Given the description of an element on the screen output the (x, y) to click on. 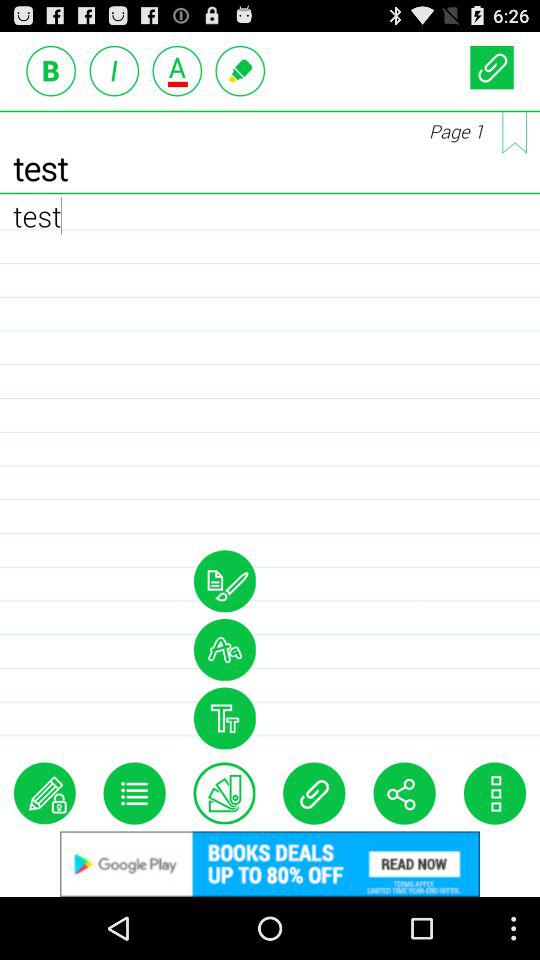
go to this advertised product (270, 864)
